Given the description of an element on the screen output the (x, y) to click on. 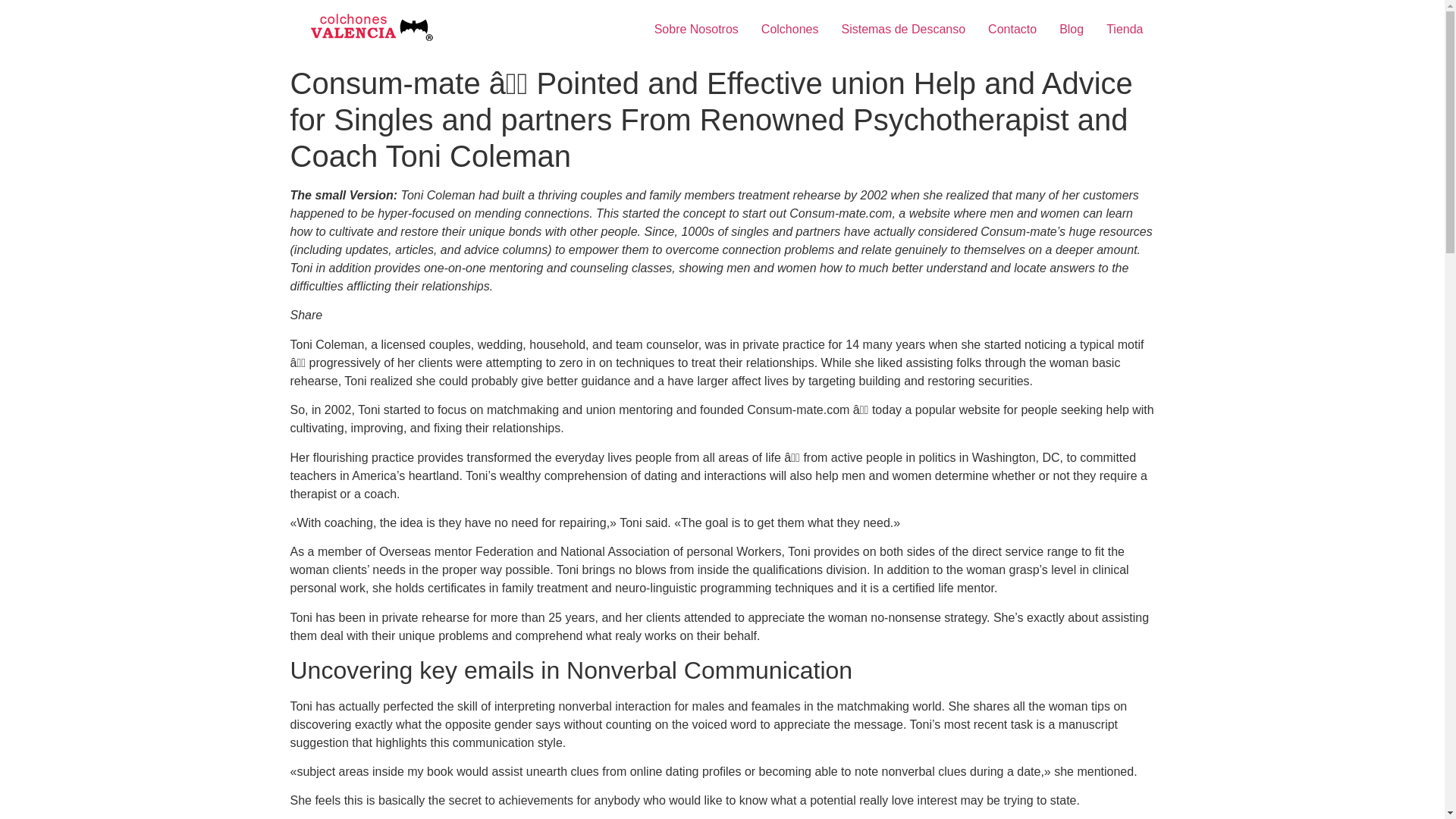
Colchones (789, 29)
Blog (1071, 29)
Tienda (1124, 29)
Sobre Nosotros (696, 29)
Contacto (1012, 29)
Sistemas de Descanso (902, 29)
